Given the description of an element on the screen output the (x, y) to click on. 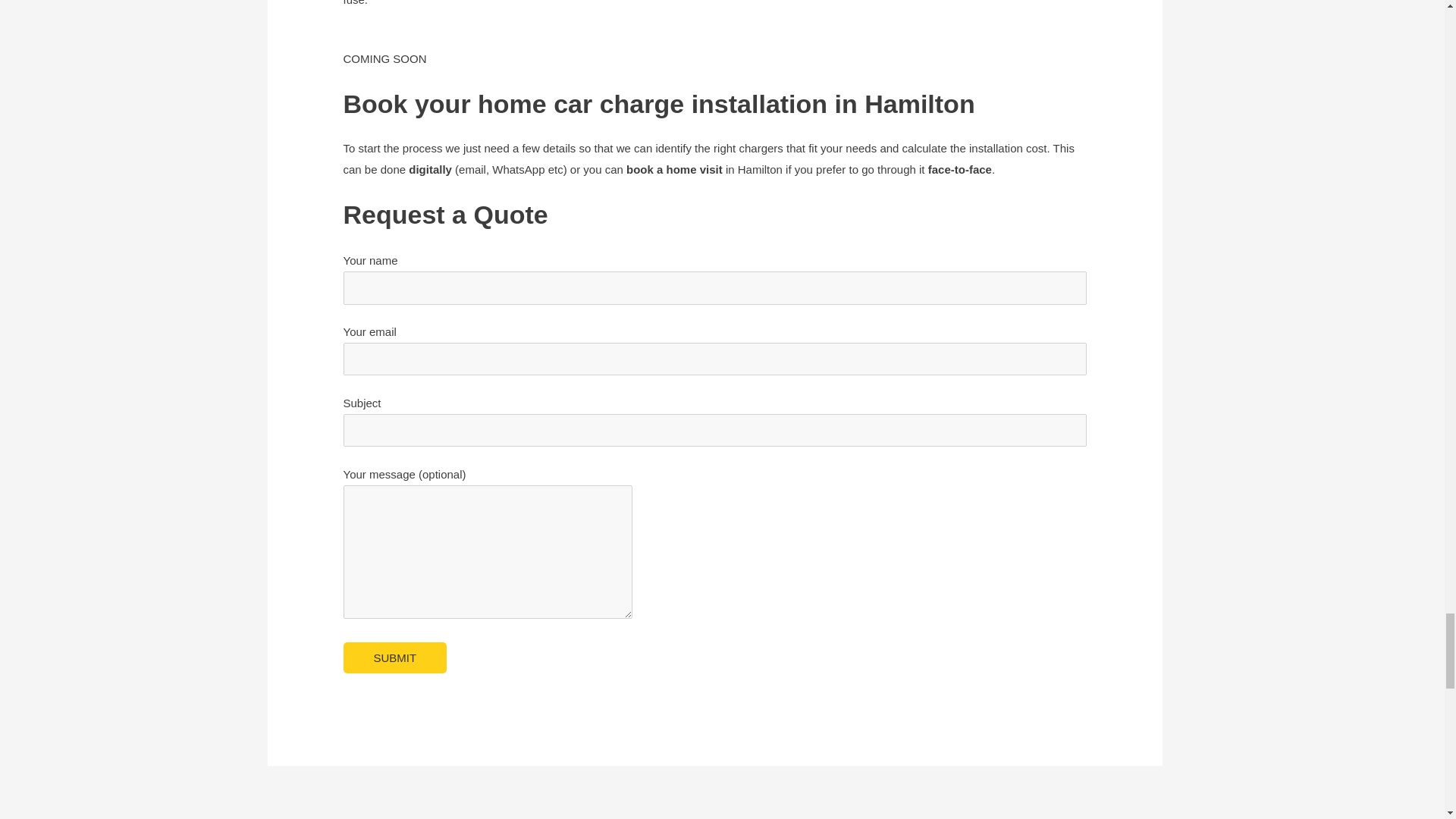
COMING SOON (384, 69)
Submit (394, 657)
Submit (394, 657)
